Given the description of an element on the screen output the (x, y) to click on. 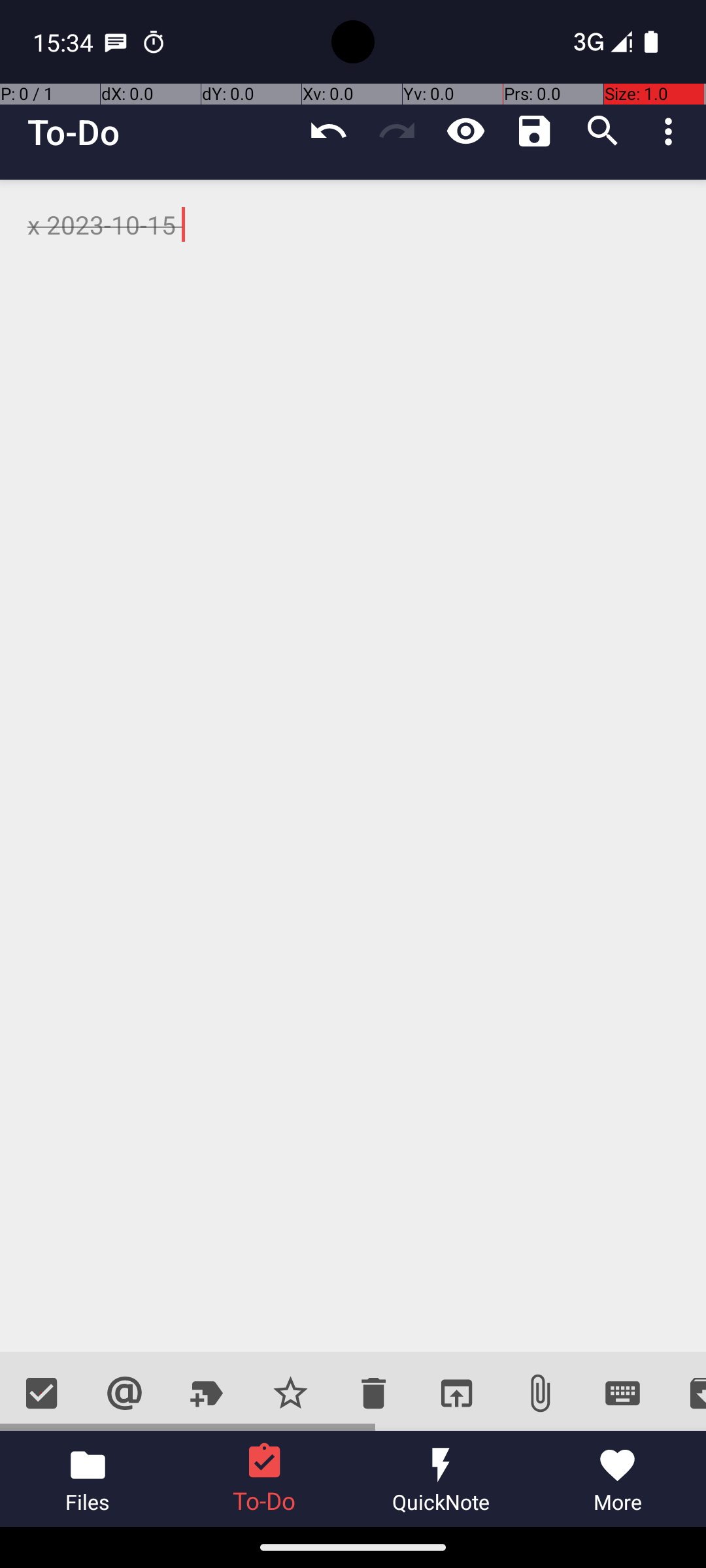
x 2023-10-15  Element type: android.widget.EditText (353, 765)
